Given the description of an element on the screen output the (x, y) to click on. 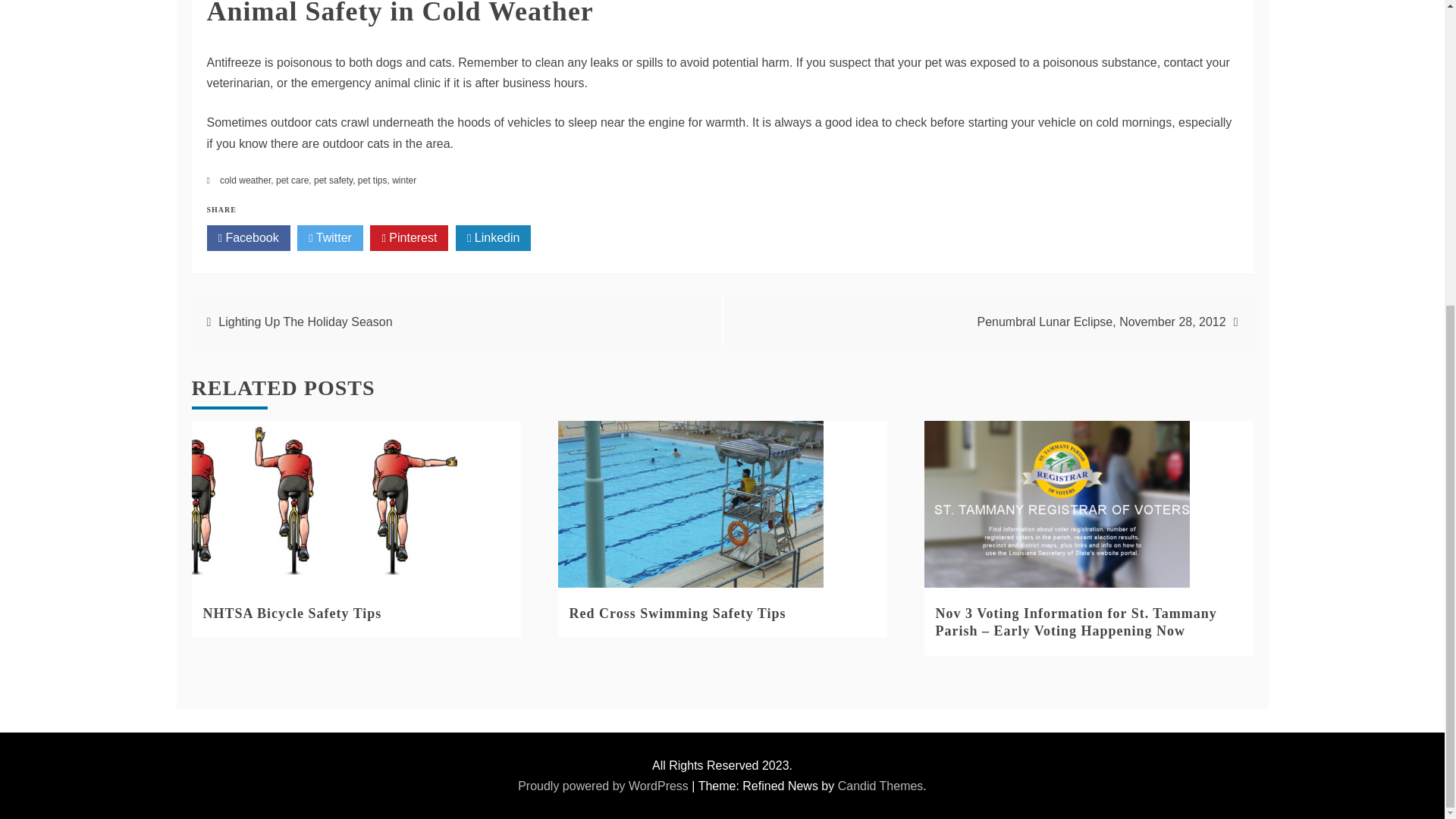
Pinterest (408, 237)
winter (403, 180)
pet tips (372, 180)
Facebook (247, 237)
pet care (292, 180)
Penumbral Lunar Eclipse, November 28, 2012 (1100, 321)
pet safety (333, 180)
Twitter (329, 237)
cold weather (244, 180)
Lighting Up The Holiday Season (304, 321)
Linkedin (493, 237)
